Given the description of an element on the screen output the (x, y) to click on. 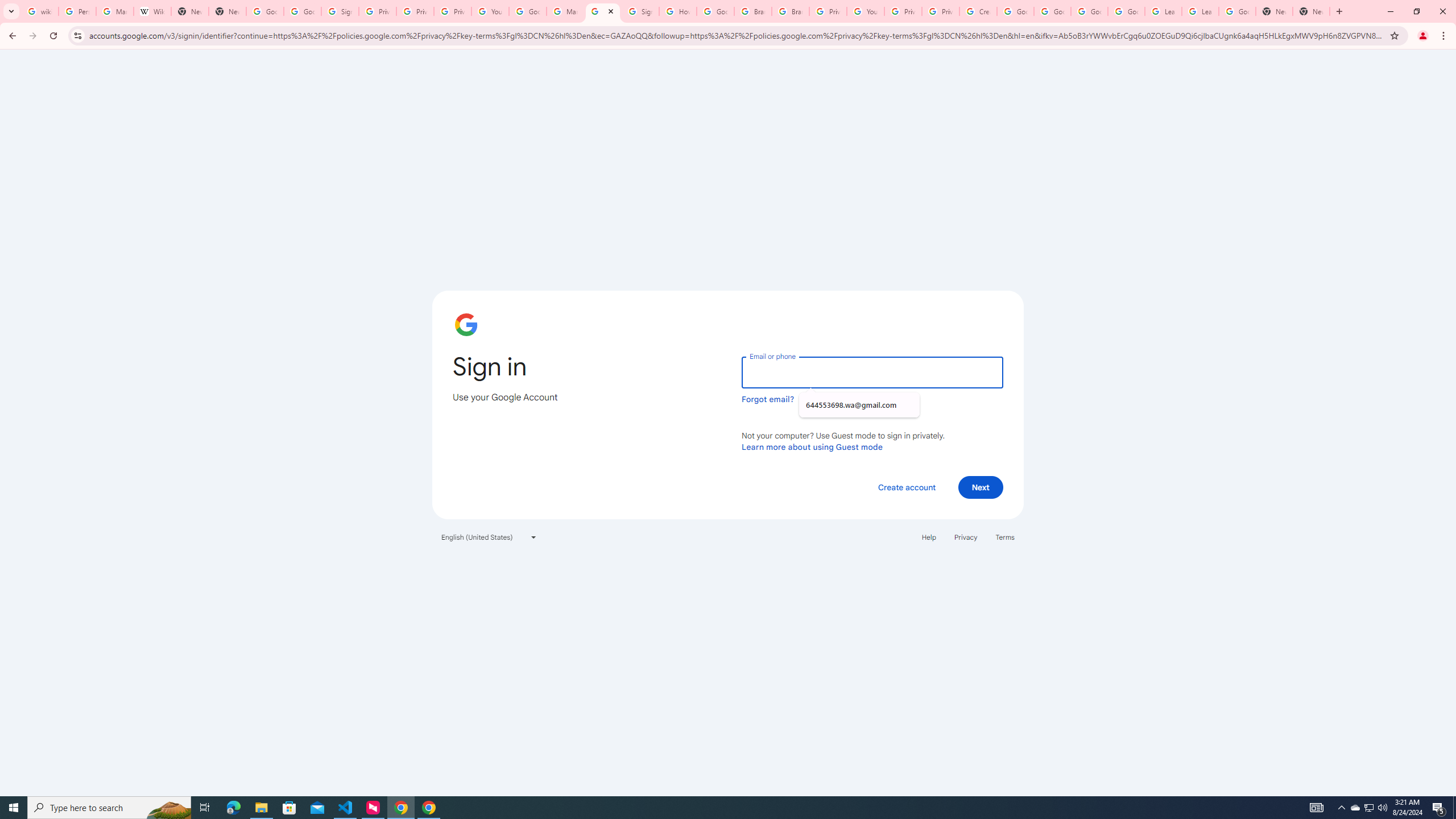
644553698.wa@gmail.com (858, 404)
Search tabs (10, 11)
Google Account Help (1052, 11)
Brand Resource Center (753, 11)
New Tab (1273, 11)
English (United States) (489, 536)
Privacy (965, 536)
Reload (52, 35)
Help (928, 536)
Learn more about using Guest mode (812, 446)
